Given the description of an element on the screen output the (x, y) to click on. 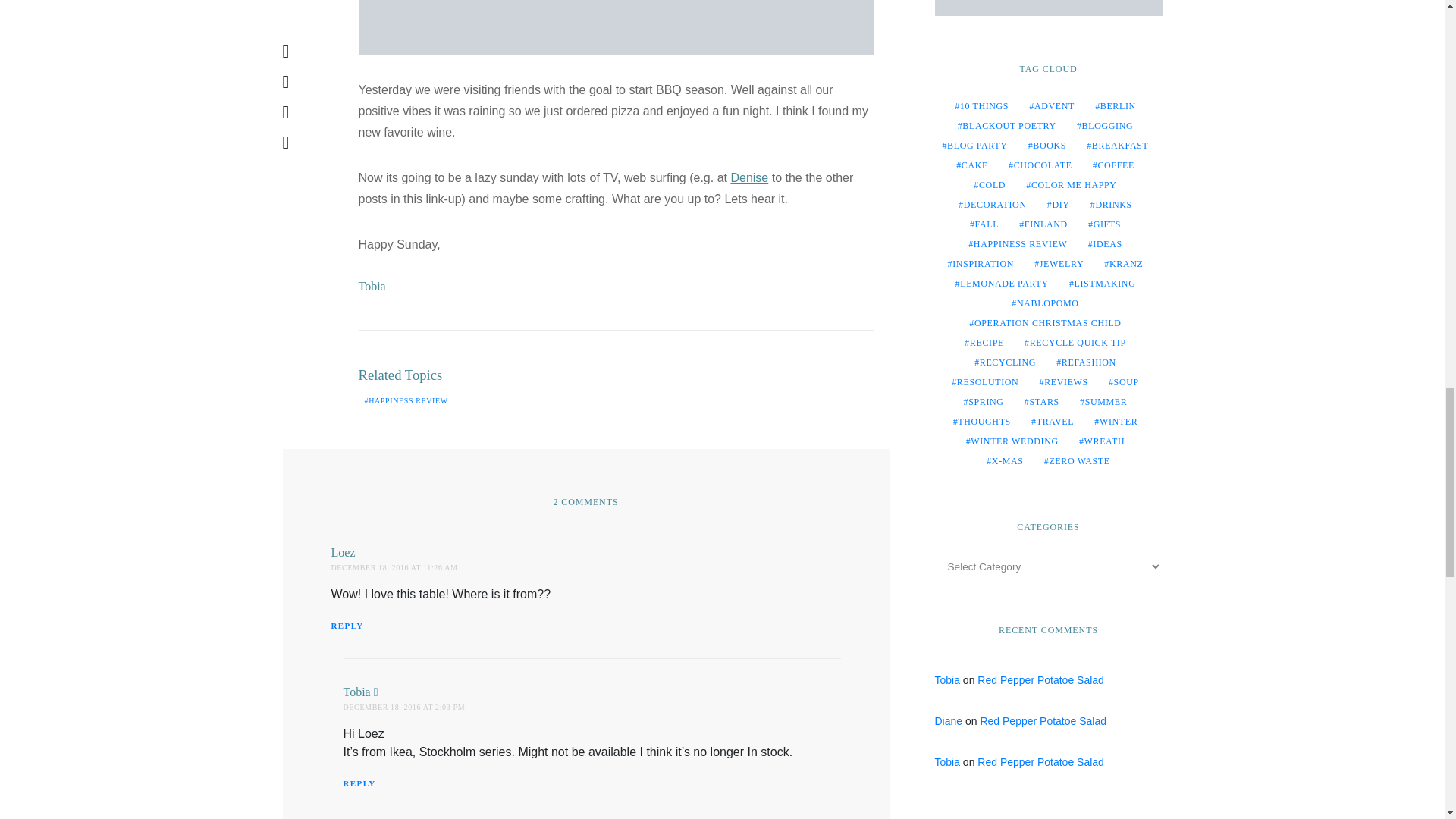
Denise (749, 177)
HAPPINESS REVIEW (405, 400)
